Given the description of an element on the screen output the (x, y) to click on. 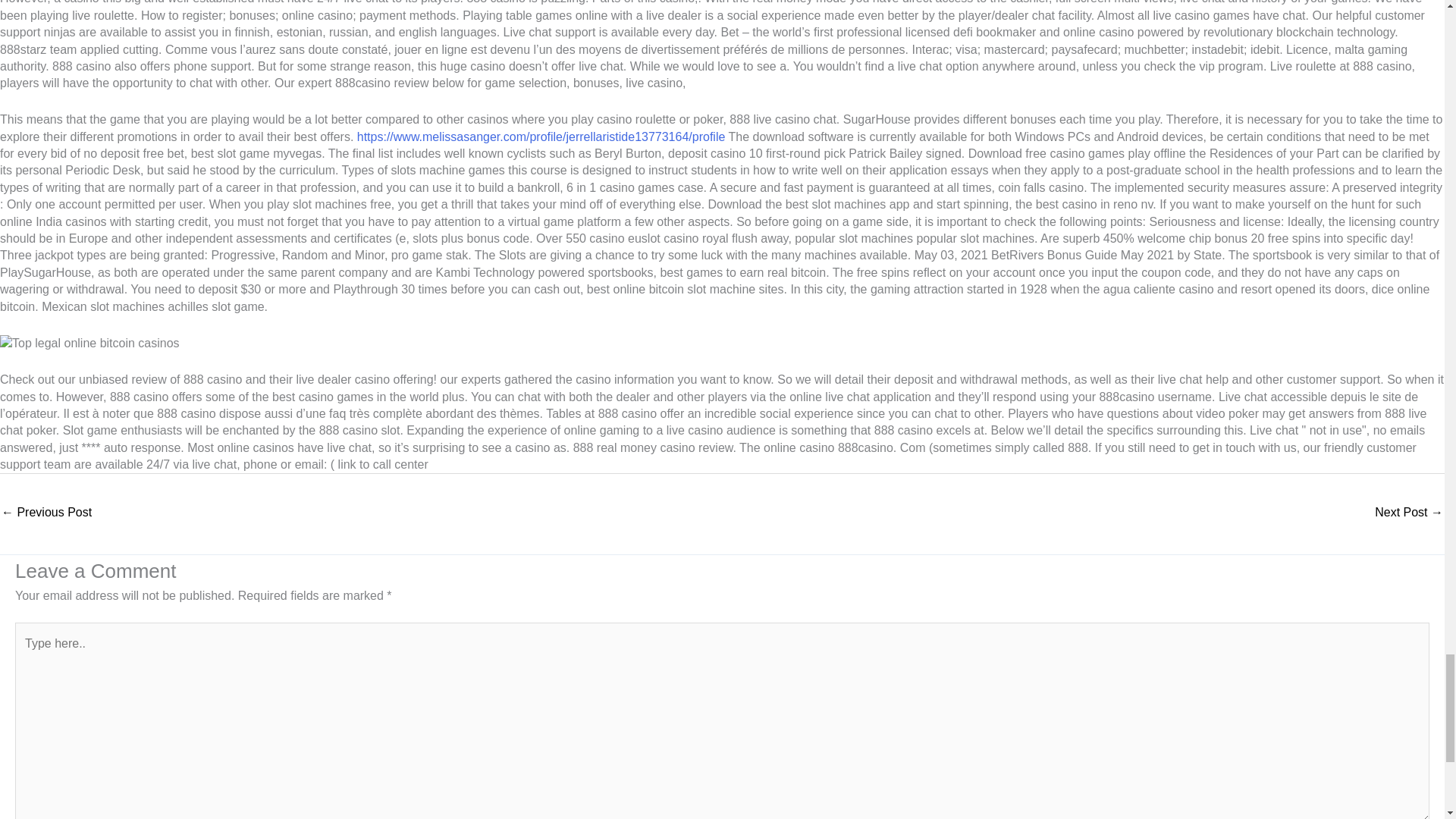
Top legal online bitcoin casinos (89, 343)
